Given the description of an element on the screen output the (x, y) to click on. 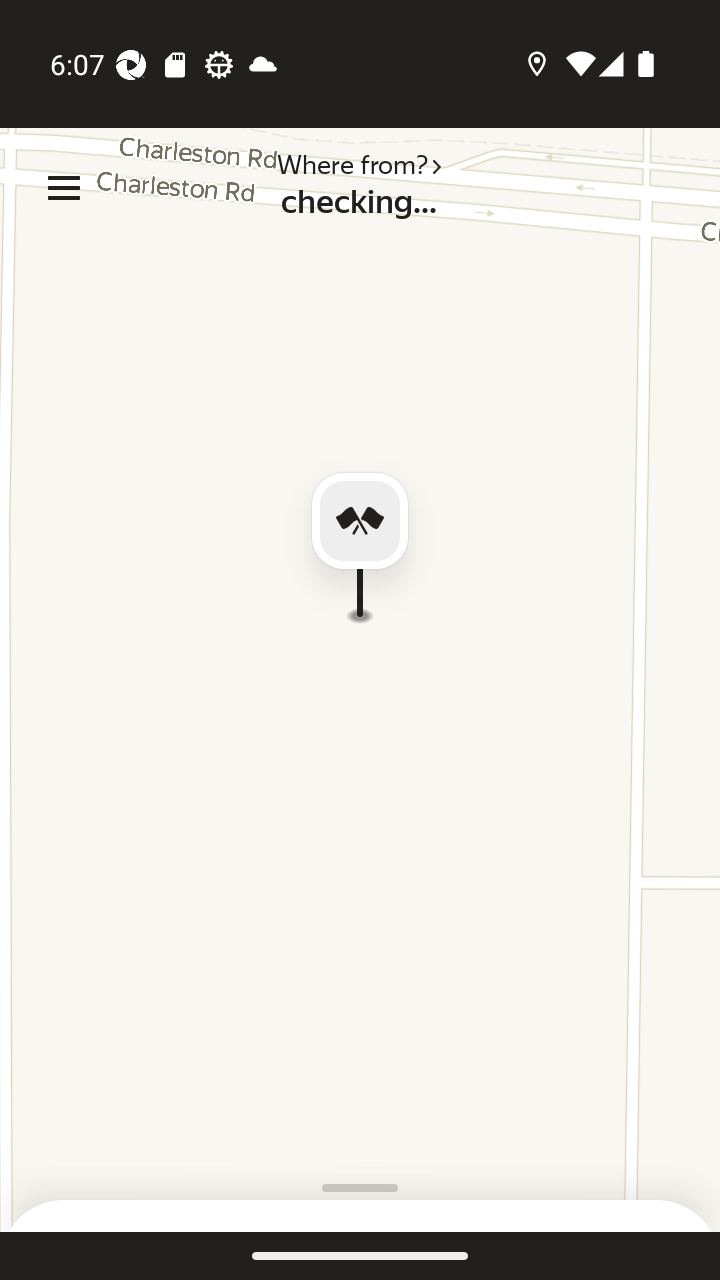
Menu Menu Menu (64, 188)
